Given the description of an element on the screen output the (x, y) to click on. 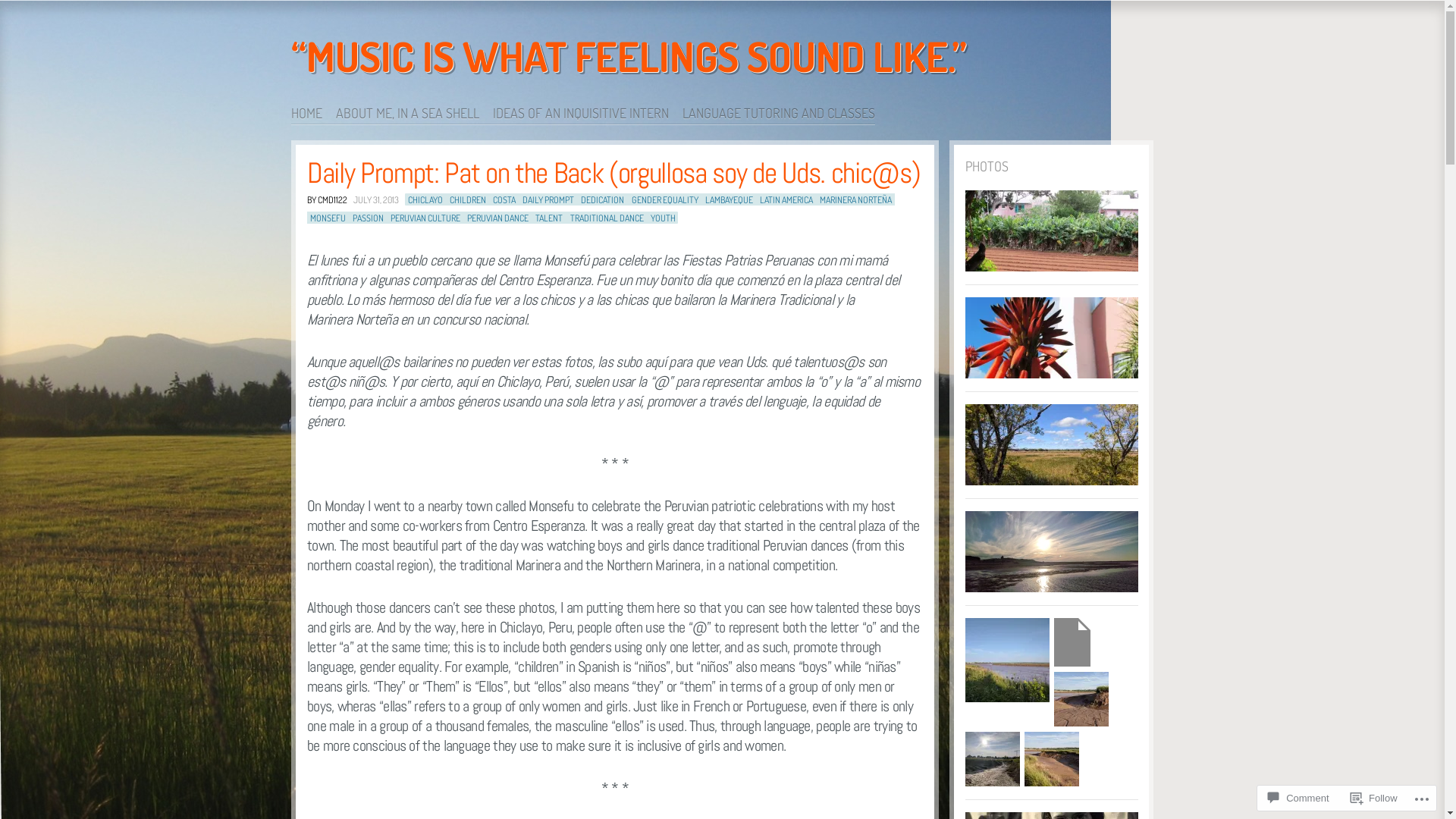
SKIP TO CONTENT Element type: text (338, 113)
PASSION Element type: text (367, 217)
HOME Element type: text (313, 113)
BY CMD1122 Element type: text (327, 199)
TALENT Element type: text (548, 217)
Follow Element type: text (1373, 797)
Comment Element type: text (1297, 797)
MONSEFU Element type: text (327, 217)
COSTA Element type: text (503, 199)
PERUVIAN CULTURE Element type: text (425, 217)
LAMBAYEQUE Element type: text (729, 199)
JULY 31, 2013 Element type: text (373, 199)
CHICLAYO Element type: text (424, 199)
DEDICATION Element type: text (602, 199)
GENDER EQUALITY Element type: text (664, 199)
IDEAS OF AN INQUISITIVE INTERN Element type: text (587, 113)
DAILY PROMPT Element type: text (548, 199)
CHILDREN Element type: text (467, 199)
LANGUAGE TUTORING AND CLASSES Element type: text (778, 113)
ABOUT ME, IN A SEA SHELL Element type: text (413, 113)
Daily Prompt: Pat on the Back (orgullosa soy de Uds. chic@s) Element type: text (613, 172)
LATIN AMERICA Element type: text (785, 199)
PERUVIAN DANCE Element type: text (497, 217)
YOUTH Element type: text (662, 217)
TRADITIONAL DANCE Element type: text (606, 217)
